Given the description of an element on the screen output the (x, y) to click on. 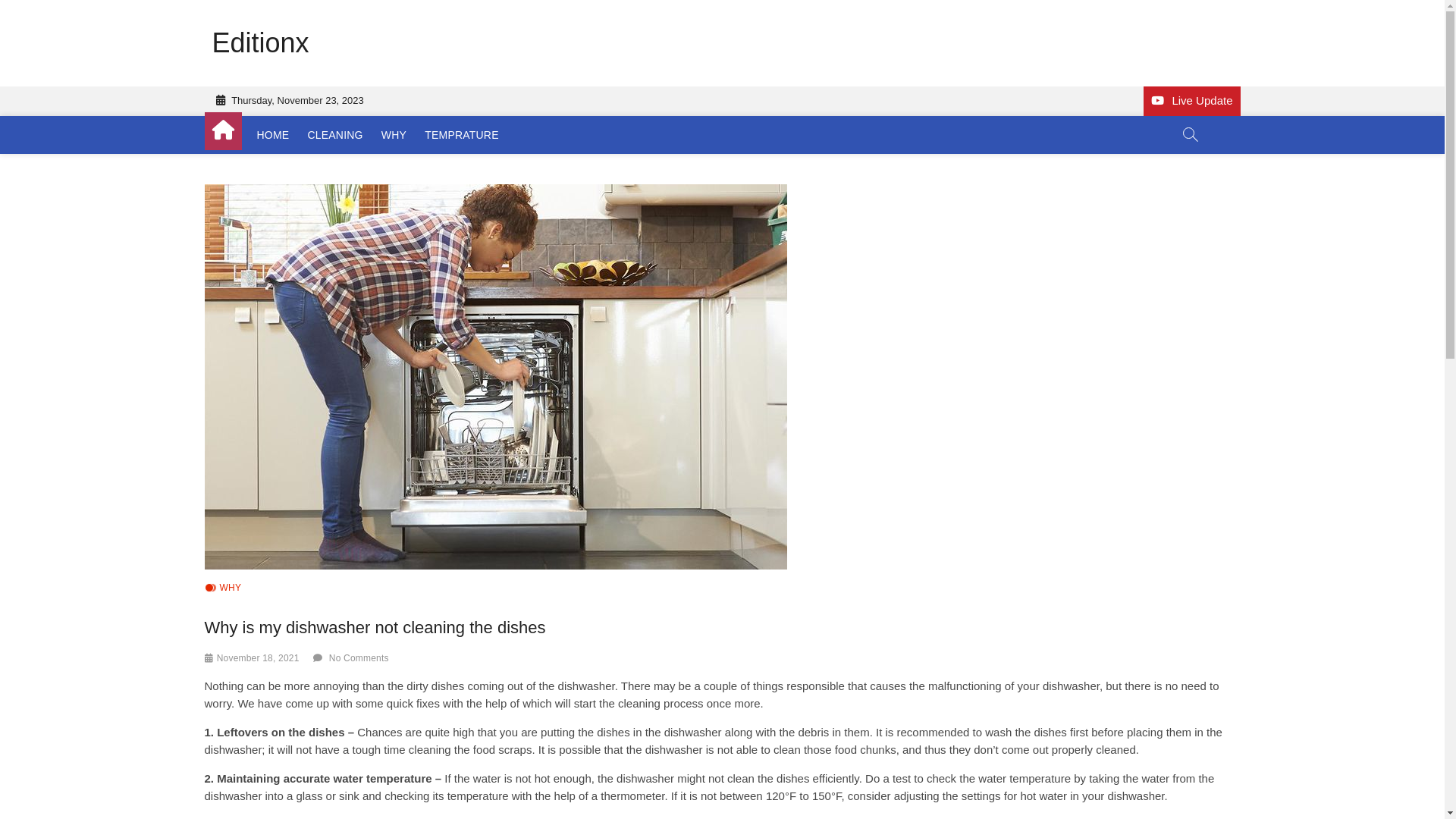
Live Update Element type: text (1191, 101)
TEMPRATURE Element type: text (461, 134)
Editionx Element type: text (260, 42)
CLEANING Element type: text (334, 134)
November 18, 2021 Element type: text (257, 657)
HOME Element type: text (272, 134)
No Comments Element type: text (359, 657)
WHY Element type: text (393, 134)
WHY Element type: text (222, 588)
